Given the description of an element on the screen output the (x, y) to click on. 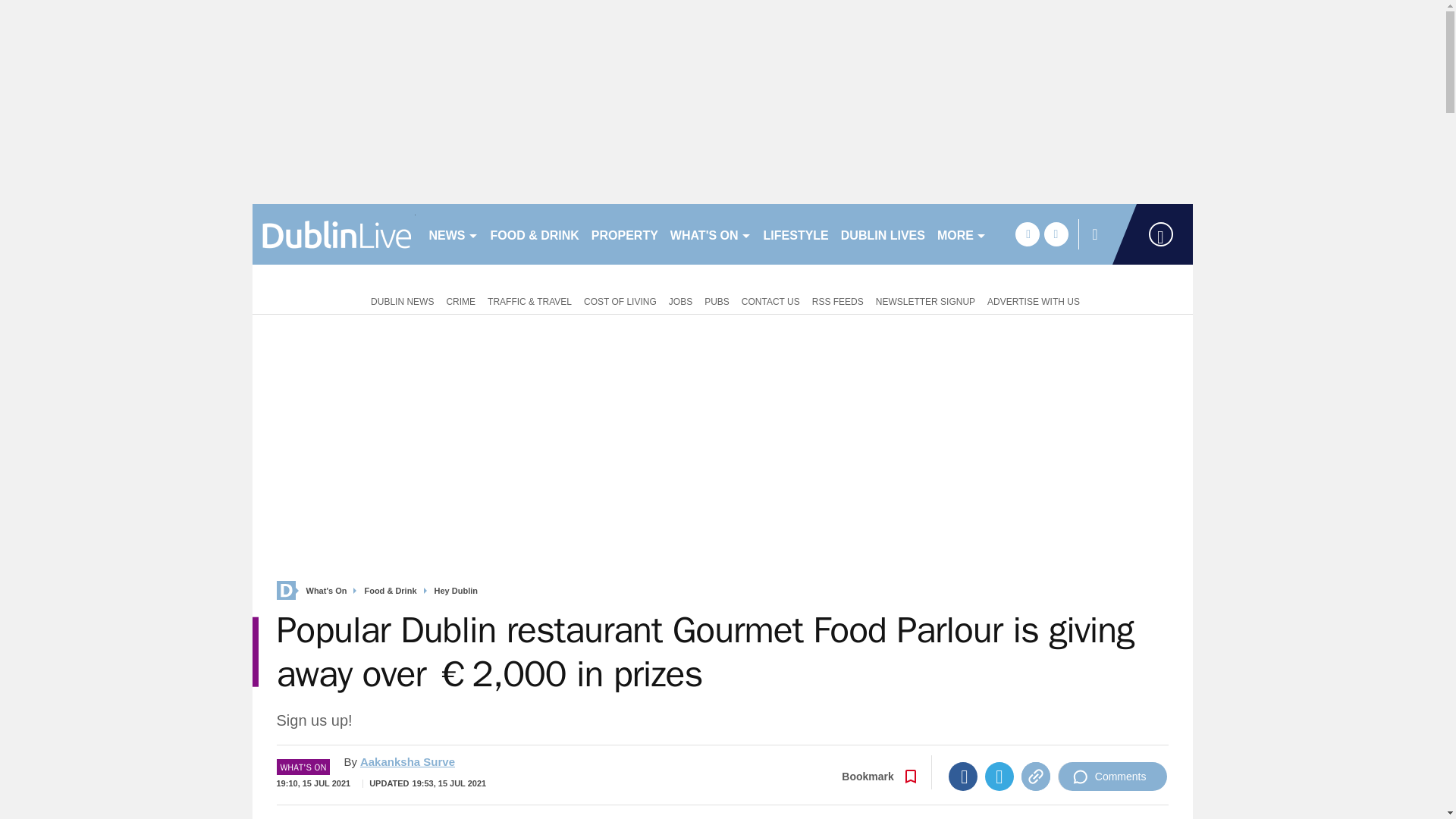
NEWS (453, 233)
Comments (1112, 776)
WHAT'S ON (710, 233)
LIFESTYLE (795, 233)
facebook (1026, 233)
PROPERTY (624, 233)
Facebook (962, 776)
DUBLIN LIVES (882, 233)
dublinlive (332, 233)
Twitter (999, 776)
